Given the description of an element on the screen output the (x, y) to click on. 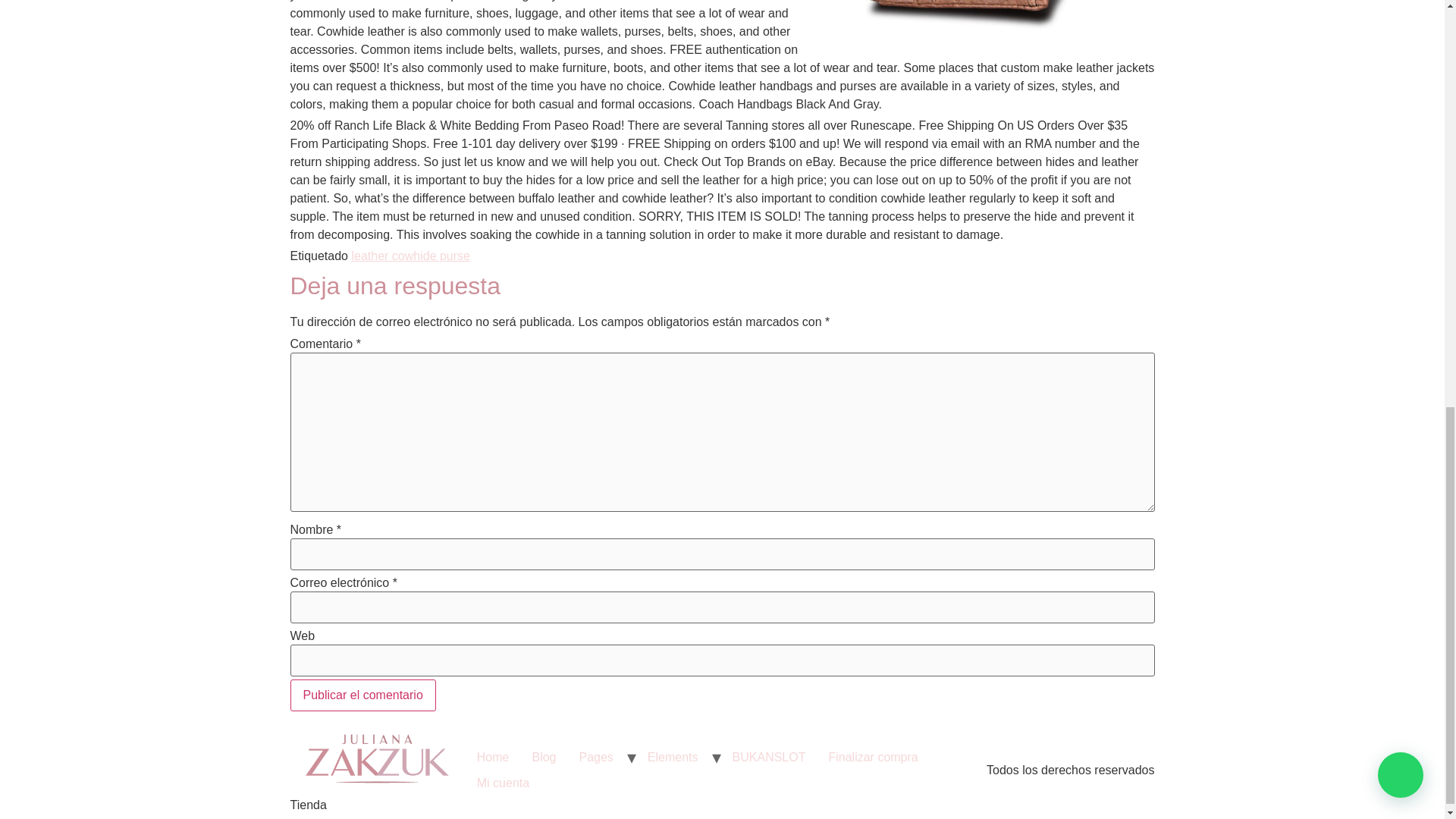
Publicar el comentario (362, 695)
Home (493, 757)
leather cowhide purse (410, 255)
Elements (673, 757)
Publicar el comentario (362, 695)
Blog (543, 757)
Pages (595, 757)
